Given the description of an element on the screen output the (x, y) to click on. 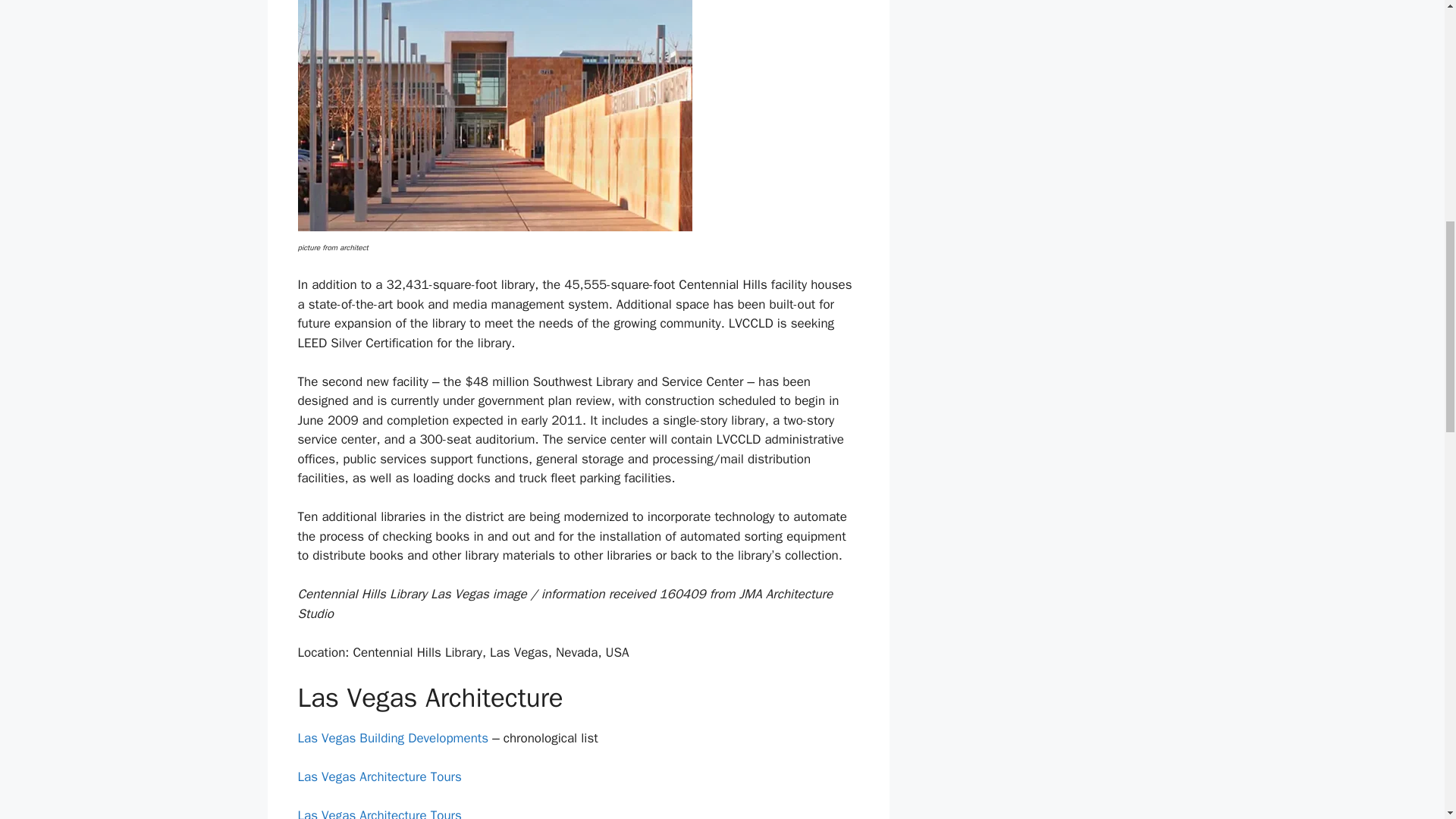
Las Vegas Architecture Tours (379, 776)
Las Vegas Architecture Tours (379, 813)
Las Vegas Building Developments (392, 738)
Scroll back to top (1406, 720)
